Given the description of an element on the screen output the (x, y) to click on. 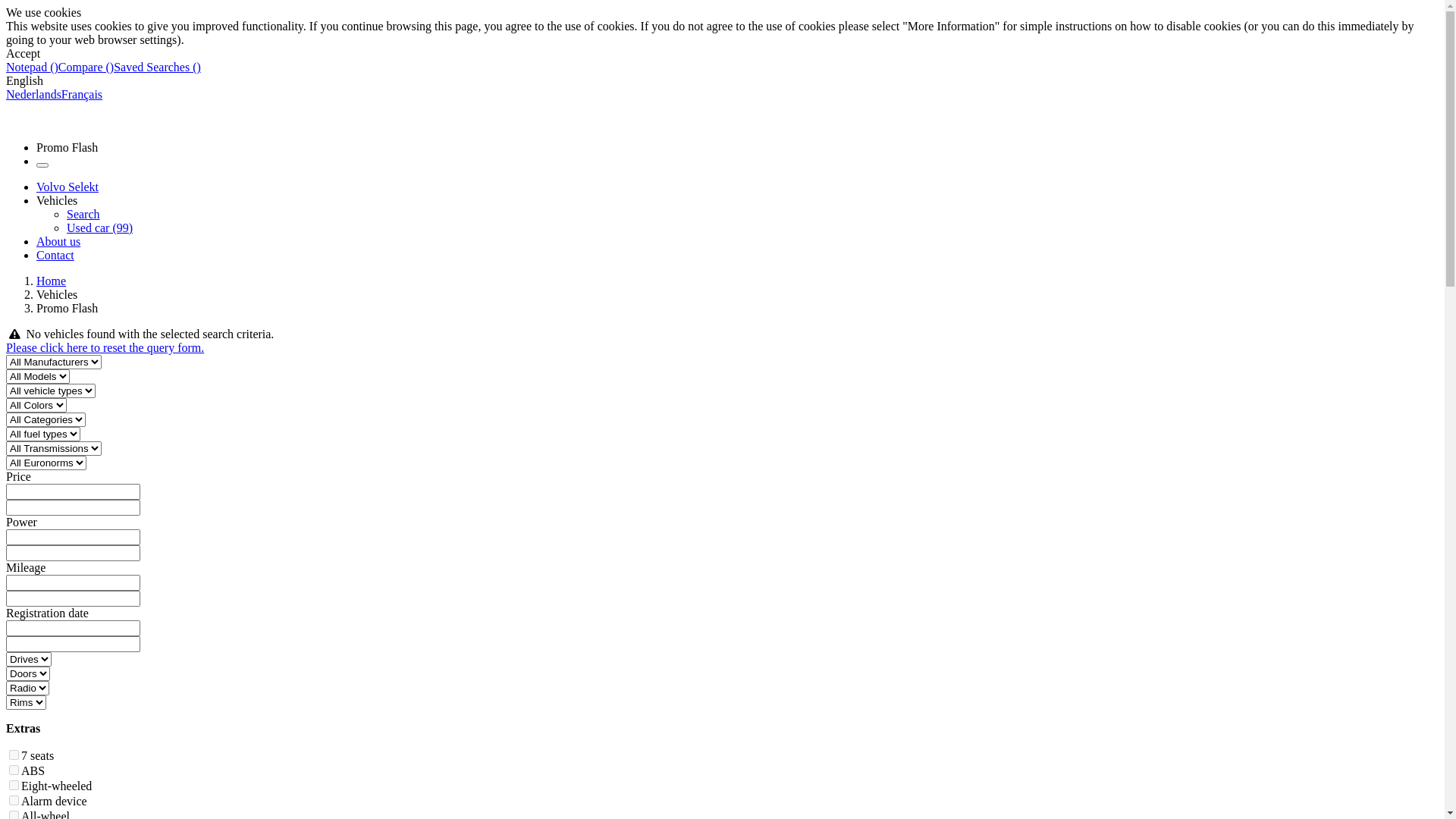
Vehicles Element type: text (56, 294)
Contact Element type: text (55, 254)
About us Element type: text (58, 241)
Saved Searches () Element type: text (156, 66)
Nederlands Element type: text (33, 93)
Home Element type: text (50, 280)
Compare () Element type: text (85, 66)
Promo Flash Element type: text (66, 147)
Used car (99) Element type: text (99, 227)
Vehicles Element type: text (56, 200)
Promo Flash Element type: text (66, 307)
Please click here to reset the query form. Element type: text (104, 347)
Notepad () Element type: text (32, 66)
Accept Element type: text (23, 53)
Search Element type: text (83, 213)
Volvo Selekt Element type: text (67, 186)
